Given the description of an element on the screen output the (x, y) to click on. 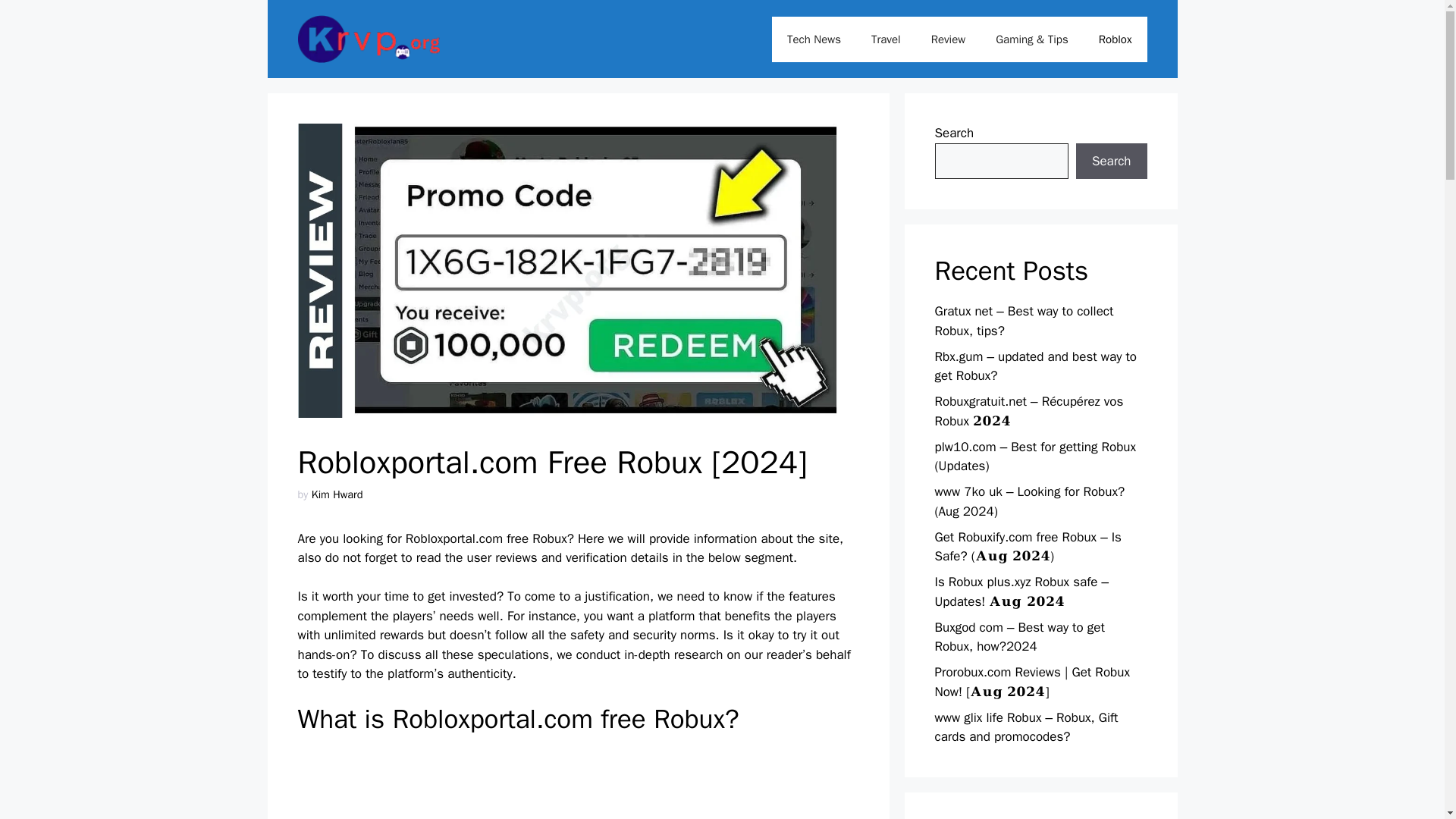
Review (948, 39)
Advertisement (578, 784)
Search (1111, 161)
Roblox (1115, 39)
Travel (885, 39)
Kim Hward (336, 494)
Robux (549, 538)
View all posts by Kim Hward (336, 494)
Tech News (813, 39)
